Given the description of an element on the screen output the (x, y) to click on. 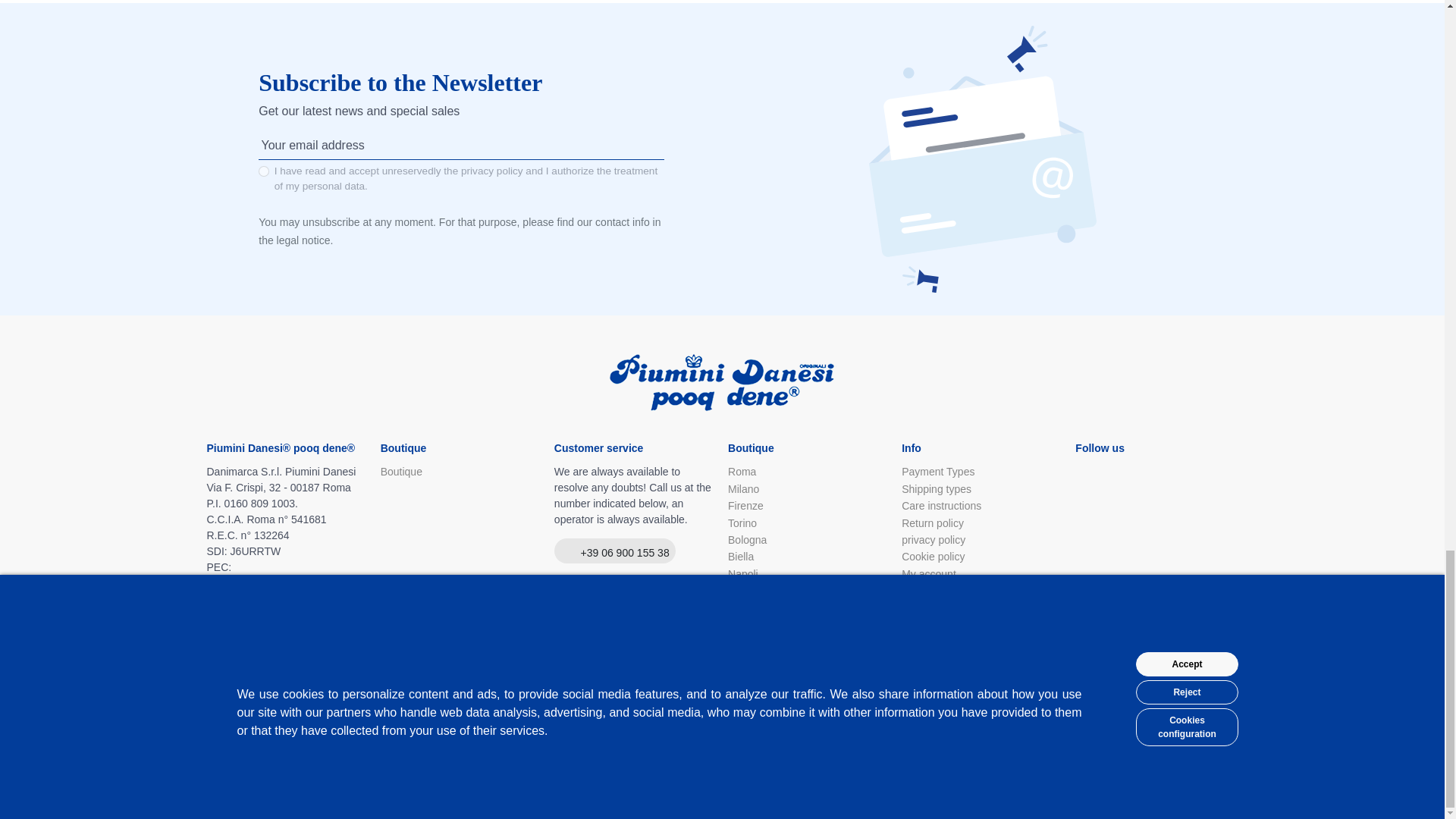
1 (264, 171)
